Given the description of an element on the screen output the (x, y) to click on. 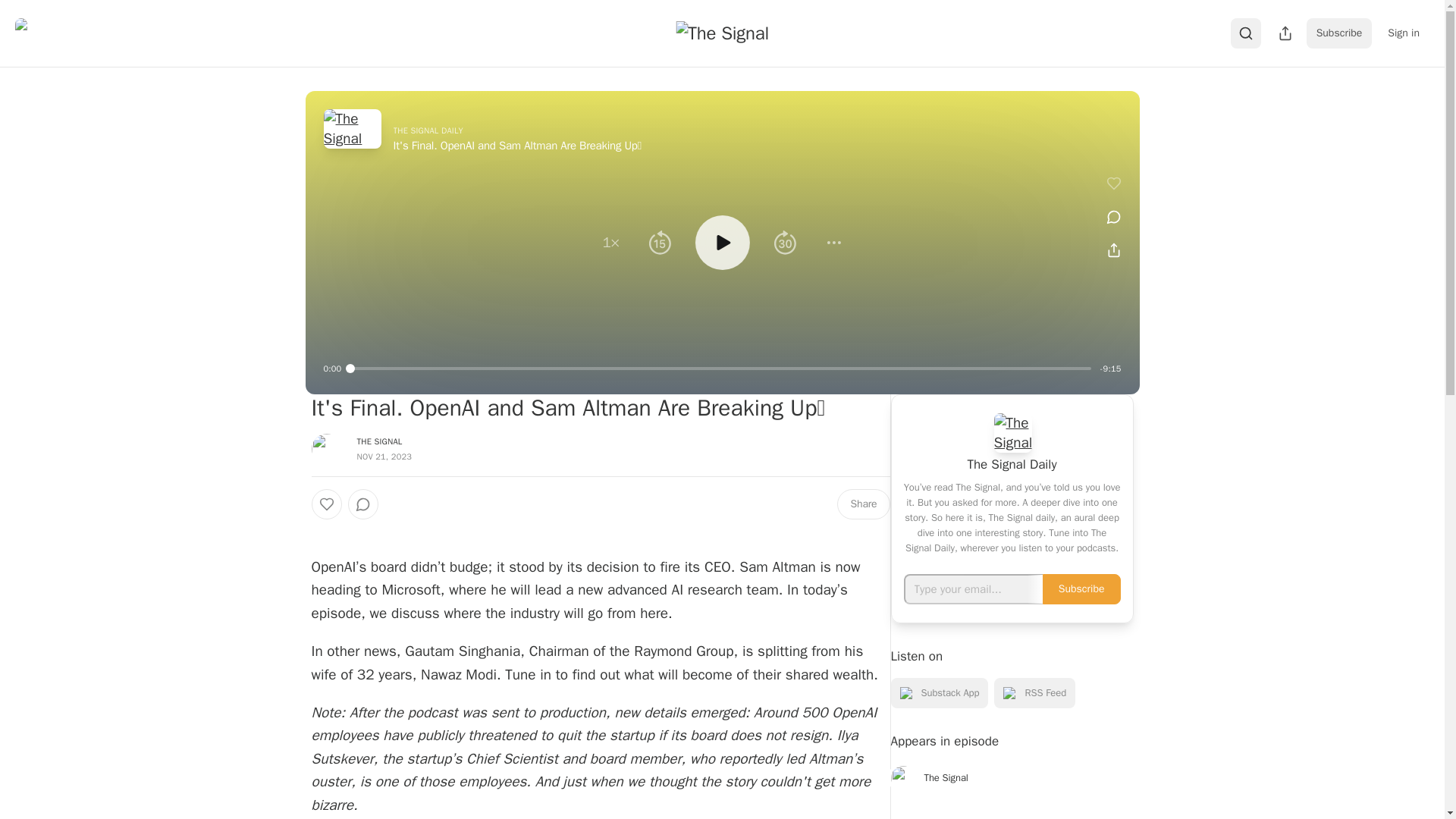
Subscribe (1339, 33)
THE SIGNAL (378, 440)
Share (863, 503)
Sign in (1403, 33)
